Given the description of an element on the screen output the (x, y) to click on. 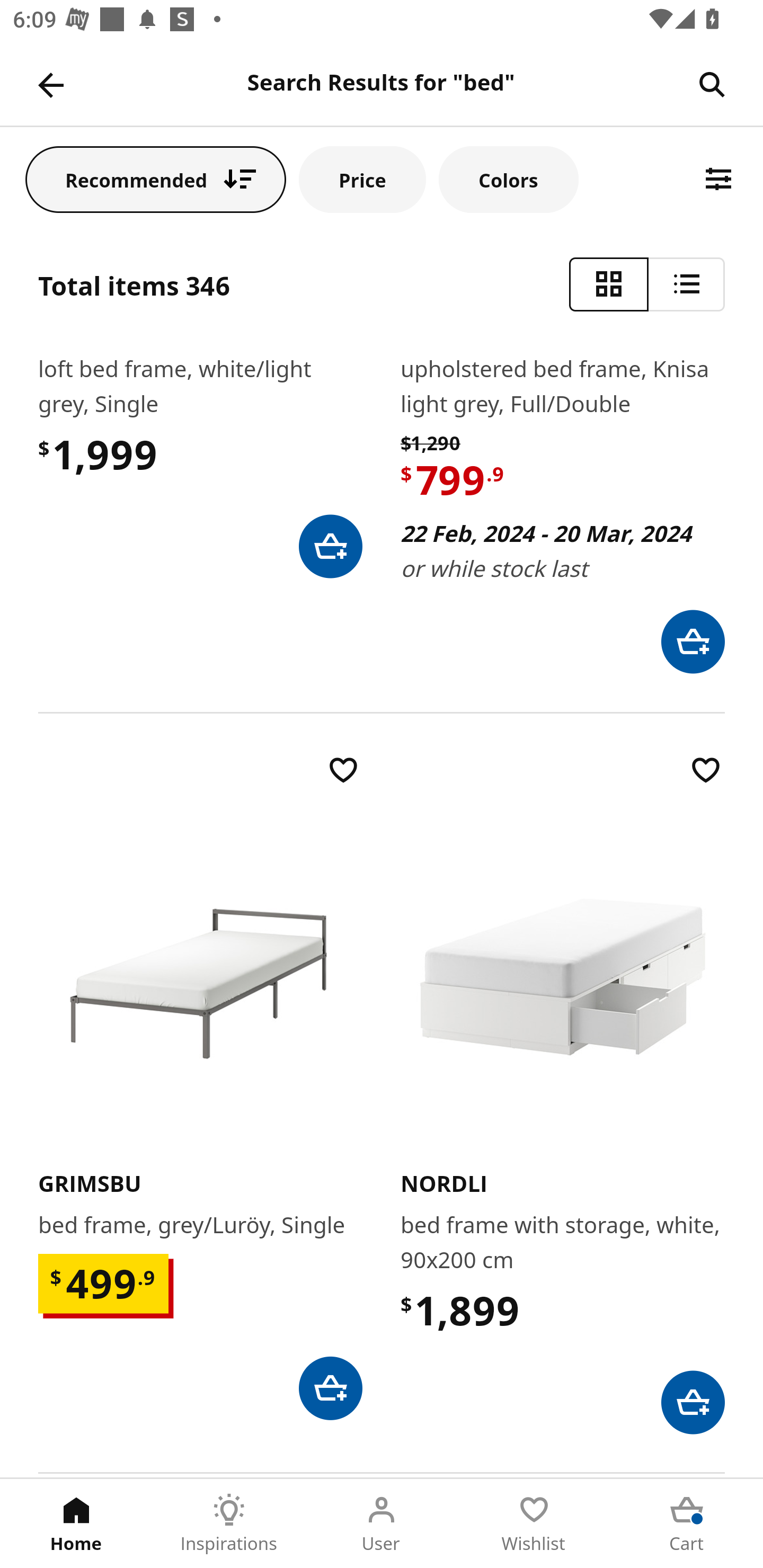
Recommended (155, 179)
Price (362, 179)
Colors (508, 179)
Home
Tab 1 of 5 (76, 1522)
Inspirations
Tab 2 of 5 (228, 1522)
User
Tab 3 of 5 (381, 1522)
Wishlist
Tab 4 of 5 (533, 1522)
Cart
Tab 5 of 5 (686, 1522)
